Given the description of an element on the screen output the (x, y) to click on. 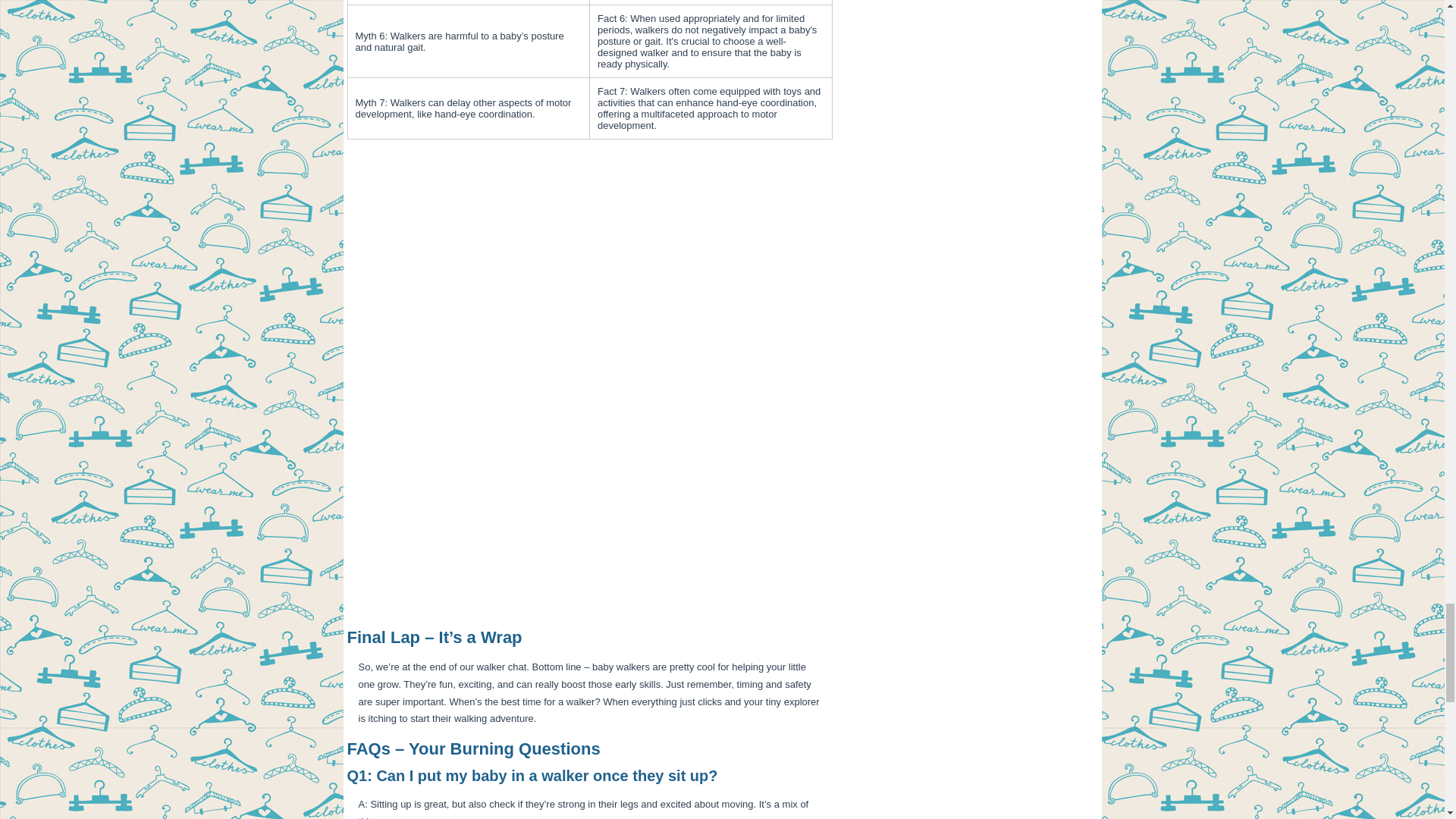
Circle of Jan Kraeck , Public domain, via Wikimedia Commons (521, 606)
